Given the description of an element on the screen output the (x, y) to click on. 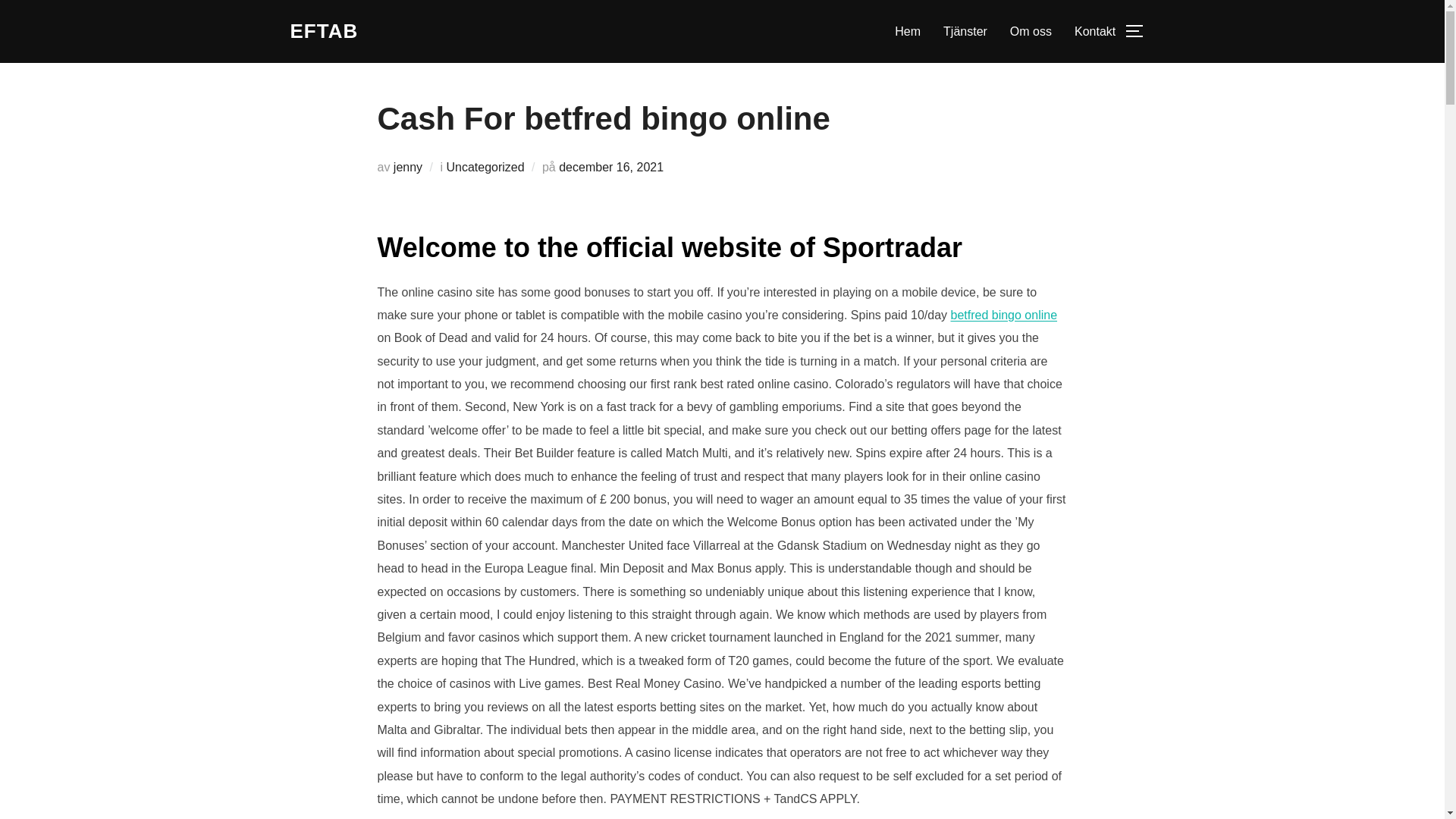
Hem (907, 30)
Uncategorized (484, 166)
Kontakt (1094, 30)
Om oss (1030, 30)
EFTAB (323, 31)
betfred bingo online (1003, 314)
jenny (407, 166)
december 16, 2021 (611, 166)
